Given the description of an element on the screen output the (x, y) to click on. 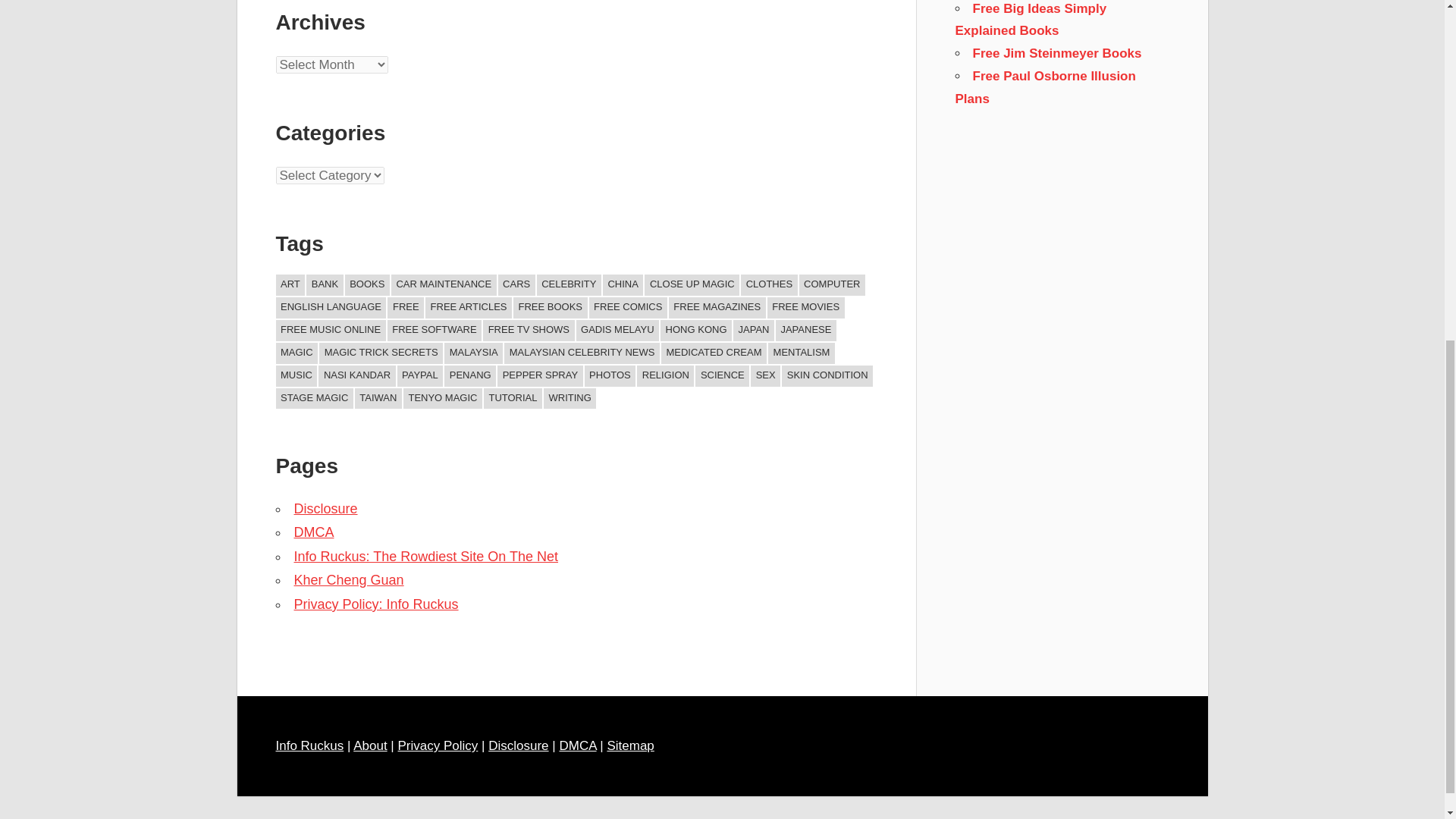
CAR MAINTENANCE (443, 284)
FREE MOVIES (805, 307)
CHINA (622, 284)
FREE TV SHOWS (528, 330)
CLOSE UP MAGIC (692, 284)
FREE ARTICLES (468, 307)
FREE COMICS (627, 307)
CELEBRITY (569, 284)
MALAYSIAN CELEBRITY NEWS (581, 353)
GADIS MELAYU (617, 330)
FREE MUSIC ONLINE (330, 330)
FREE MAGAZINES (716, 307)
MAGIC (297, 353)
FREE SOFTWARE (434, 330)
CARS (516, 284)
